Given the description of an element on the screen output the (x, y) to click on. 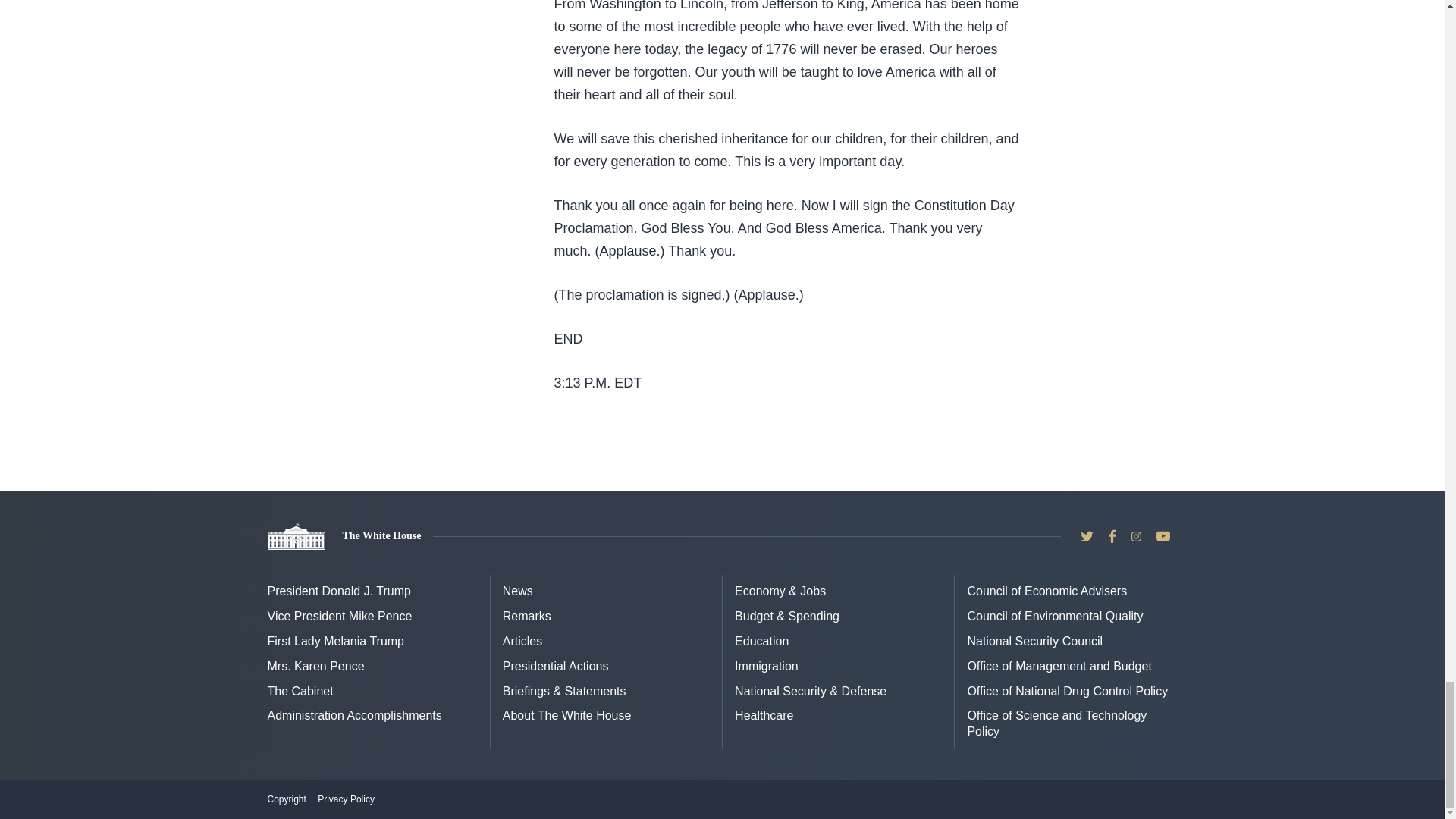
Council of Economic Advisers (1046, 590)
Healthcare (764, 715)
Remarks (526, 615)
About The White House (566, 715)
Presidential Actions (555, 666)
The Cabinet (299, 690)
News (517, 590)
Education (762, 640)
Articles (521, 640)
President Donald J. Trump (338, 590)
Immigration (766, 666)
First Lady Melania Trump (335, 640)
Administration Accomplishments (353, 715)
Council of Environmental Quality (1054, 615)
Mrs. Karen Pence (315, 666)
